Given the description of an element on the screen output the (x, y) to click on. 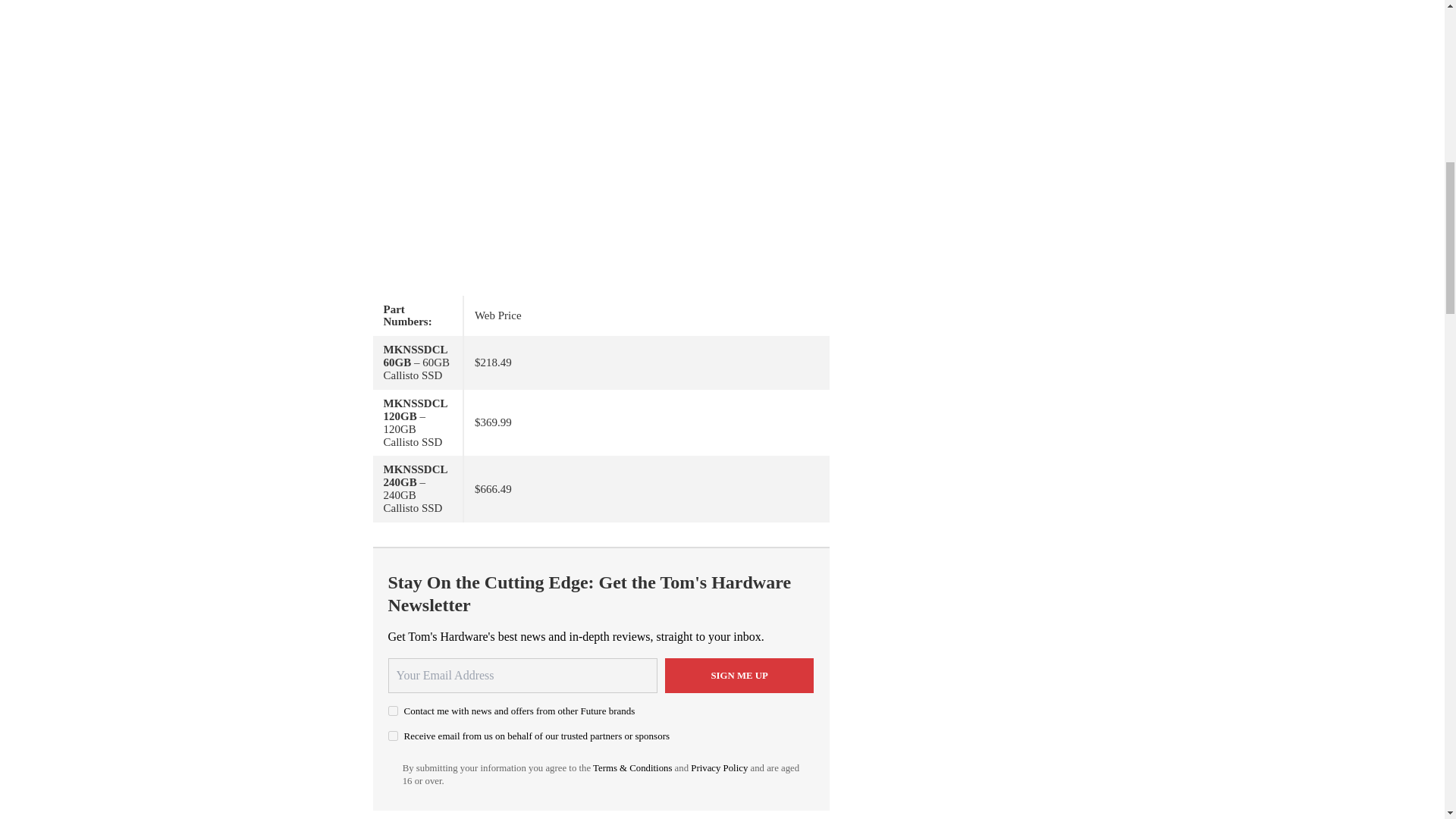
Sign me up (739, 675)
on (392, 710)
on (392, 736)
